Given the description of an element on the screen output the (x, y) to click on. 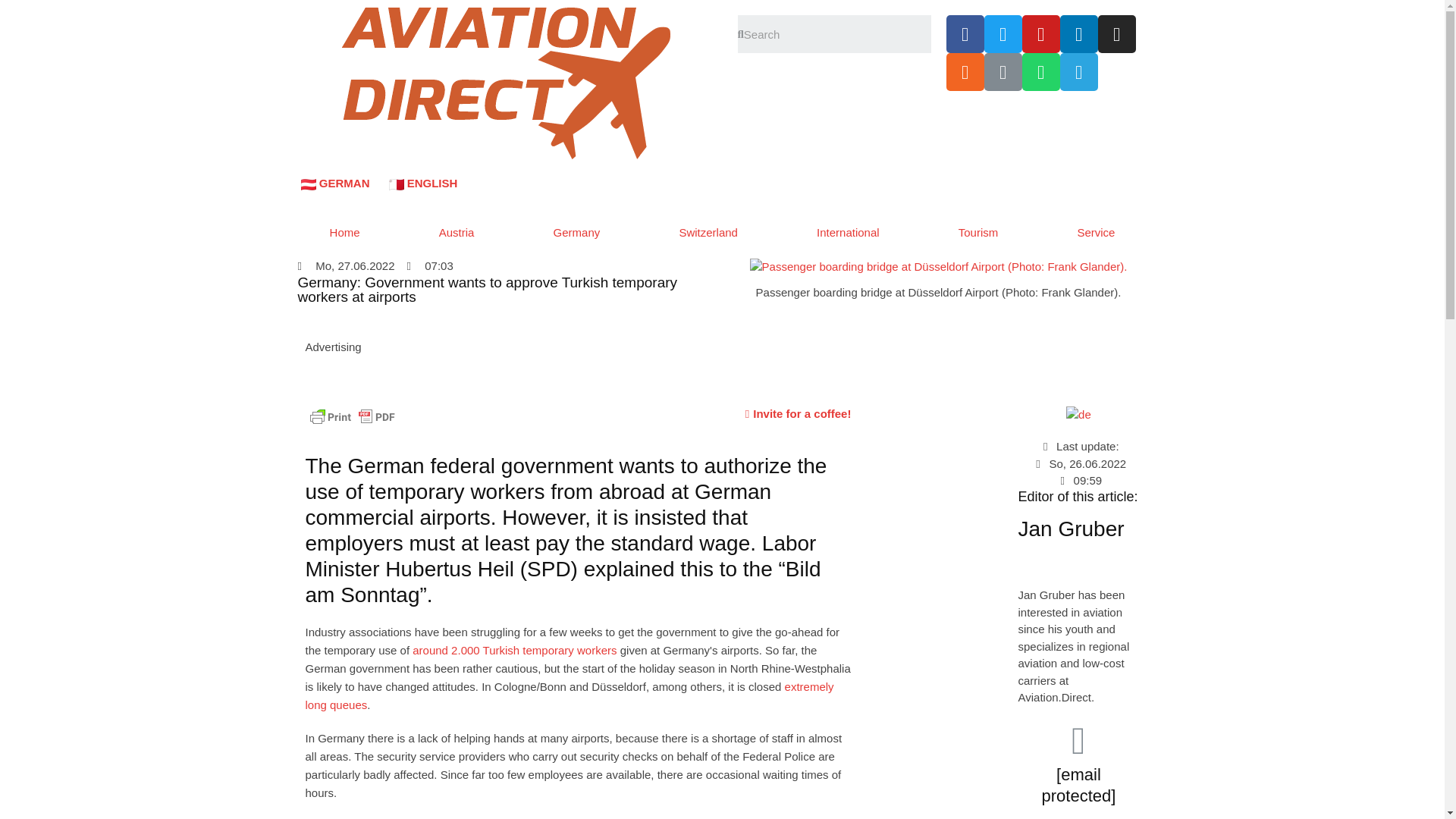
  GERMAN (333, 182)
Austria (455, 232)
Search (837, 34)
Germany (576, 232)
de (1077, 415)
Home (343, 232)
ENGLISH (423, 182)
